Given the description of an element on the screen output the (x, y) to click on. 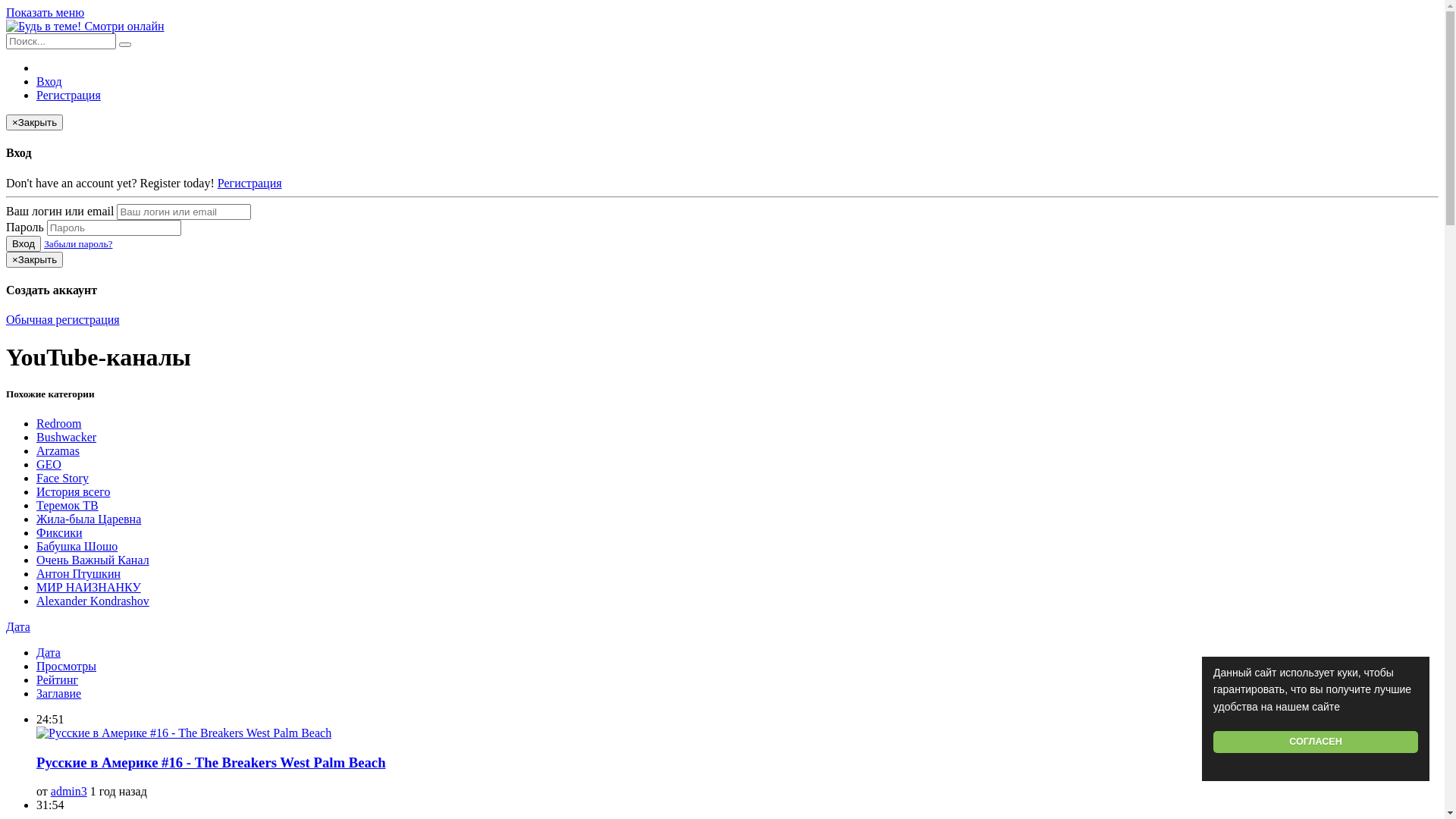
GEO Element type: text (48, 464)
Alexander Kondrashov Element type: text (92, 600)
Face Story Element type: text (62, 477)
Bushwacker Element type: text (66, 436)
Redroom Element type: text (58, 423)
Arzamas Element type: text (57, 450)
admin3 Element type: text (68, 790)
